Given the description of an element on the screen output the (x, y) to click on. 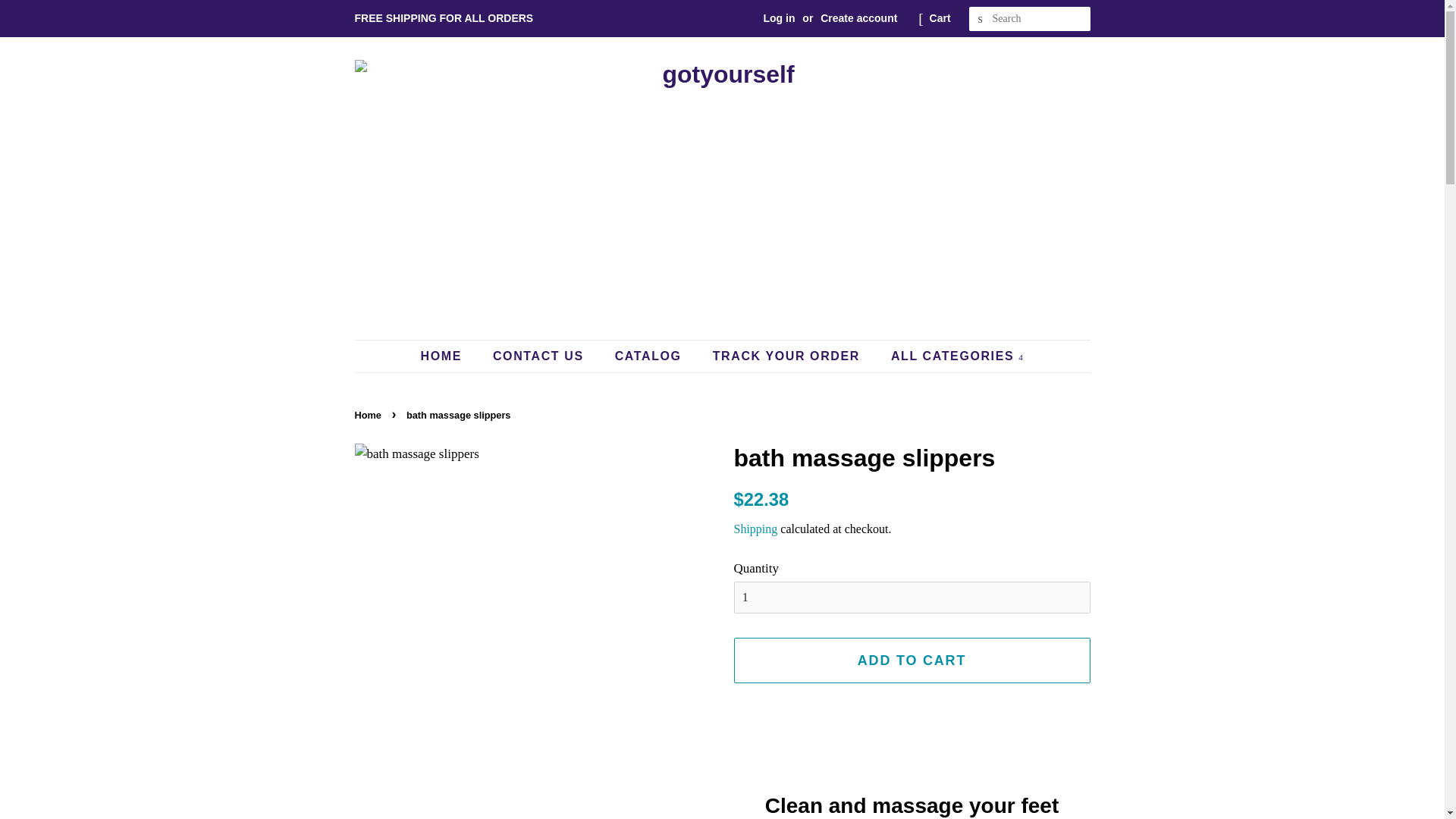
Cart (940, 18)
SEARCH (980, 18)
Home (370, 414)
ALL CATEGORIES (952, 355)
ADD TO CART (911, 660)
Shipping (755, 528)
HOME (448, 355)
Back to the frontpage (370, 414)
CONTACT US (539, 355)
CATALOG (650, 355)
